Given the description of an element on the screen output the (x, y) to click on. 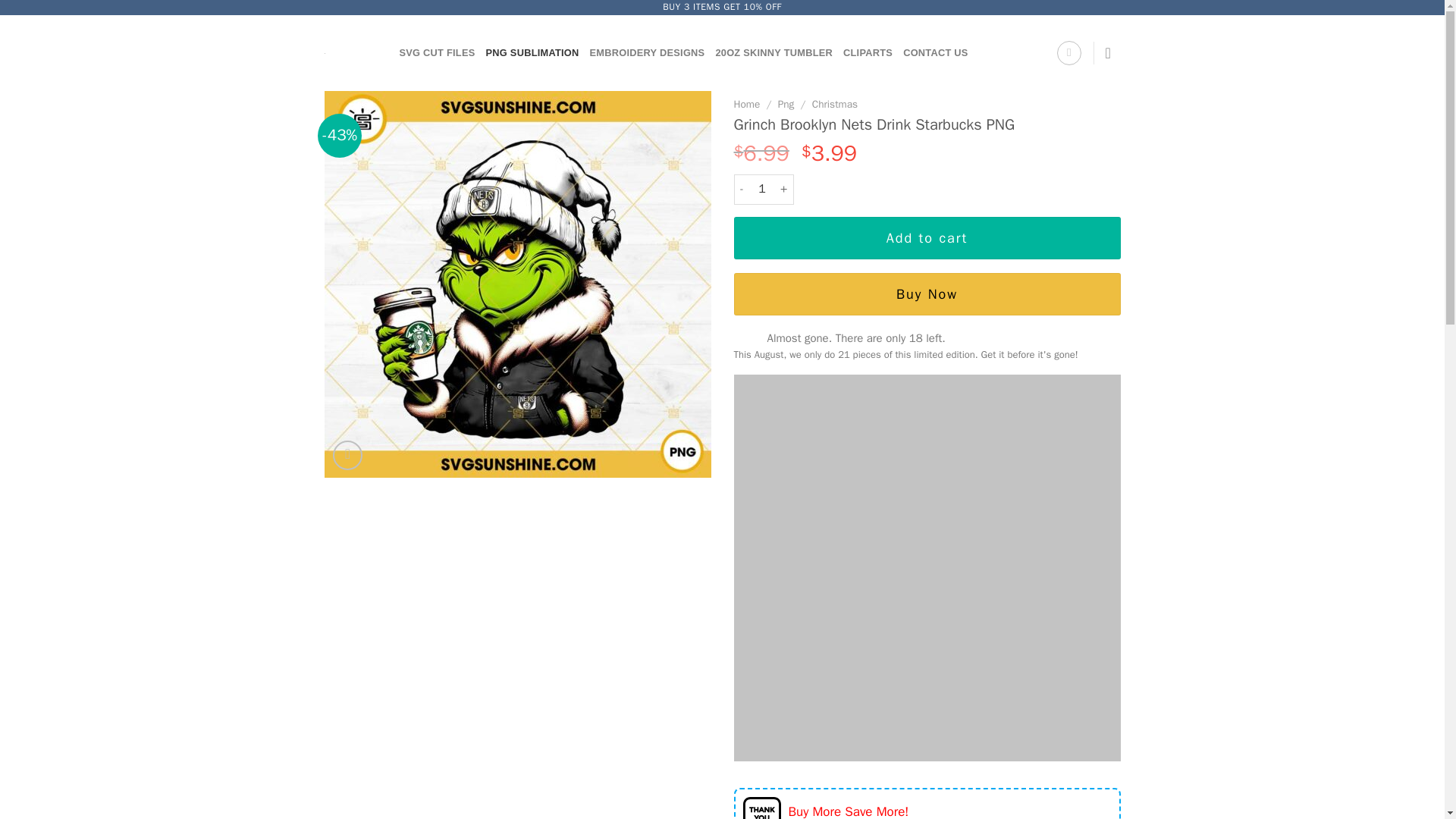
Home (746, 103)
PNG SUBLIMATION (532, 52)
Christmas (834, 103)
Png (785, 103)
EMBROIDERY DESIGNS (646, 52)
CLIPARTS (867, 52)
Zoom (347, 455)
CONTACT US (935, 52)
Sunshine - High Quality SVG (350, 53)
